Given the description of an element on the screen output the (x, y) to click on. 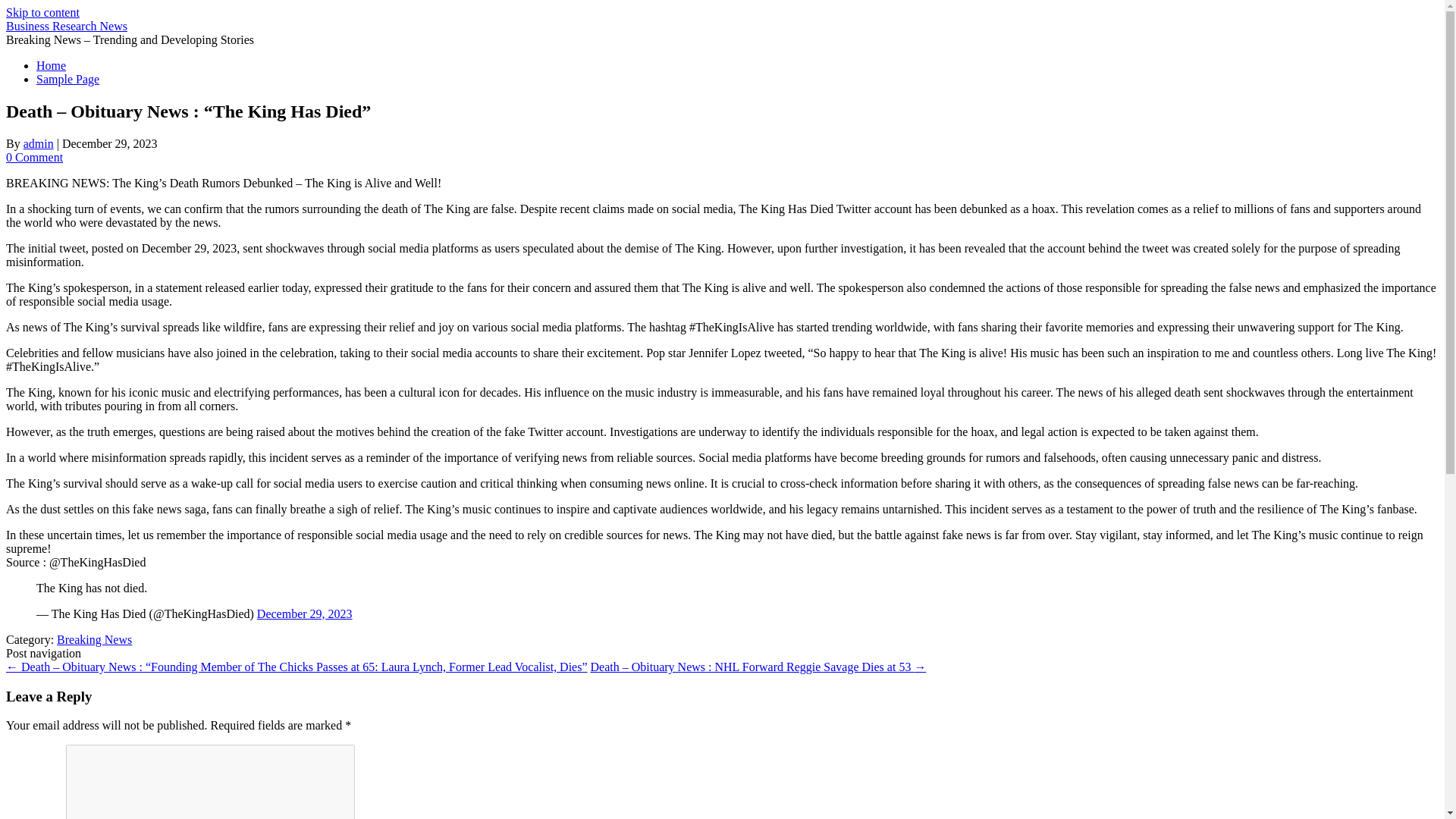
Breaking News (94, 639)
December 29, 2023 (304, 613)
Business Research News (66, 25)
Skip to content (42, 11)
0 Comment (33, 156)
admin (38, 143)
Posts by admin (38, 143)
Home (50, 65)
Sample Page (67, 78)
Skip to content (42, 11)
Business Research News (66, 25)
